Given the description of an element on the screen output the (x, y) to click on. 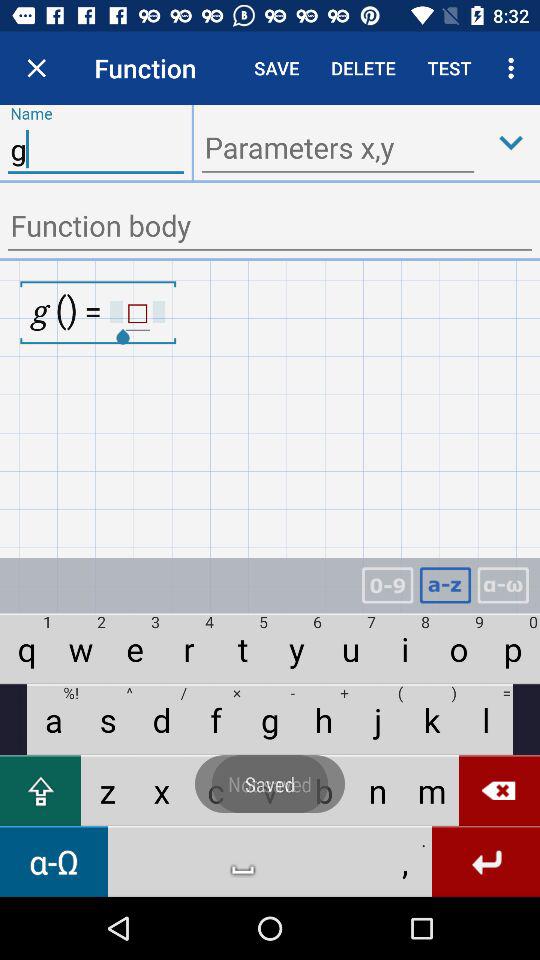
number box (387, 585)
